Given the description of an element on the screen output the (x, y) to click on. 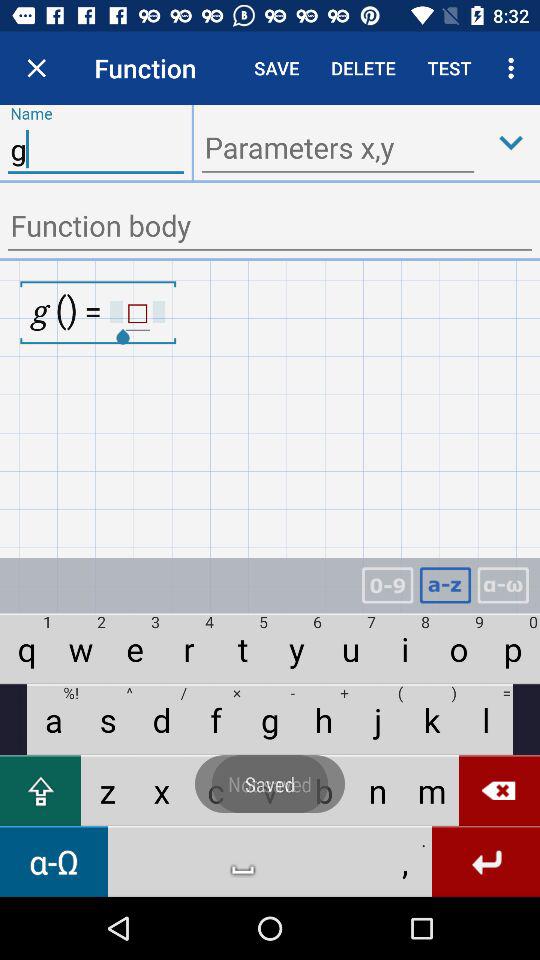
number box (387, 585)
